Given the description of an element on the screen output the (x, y) to click on. 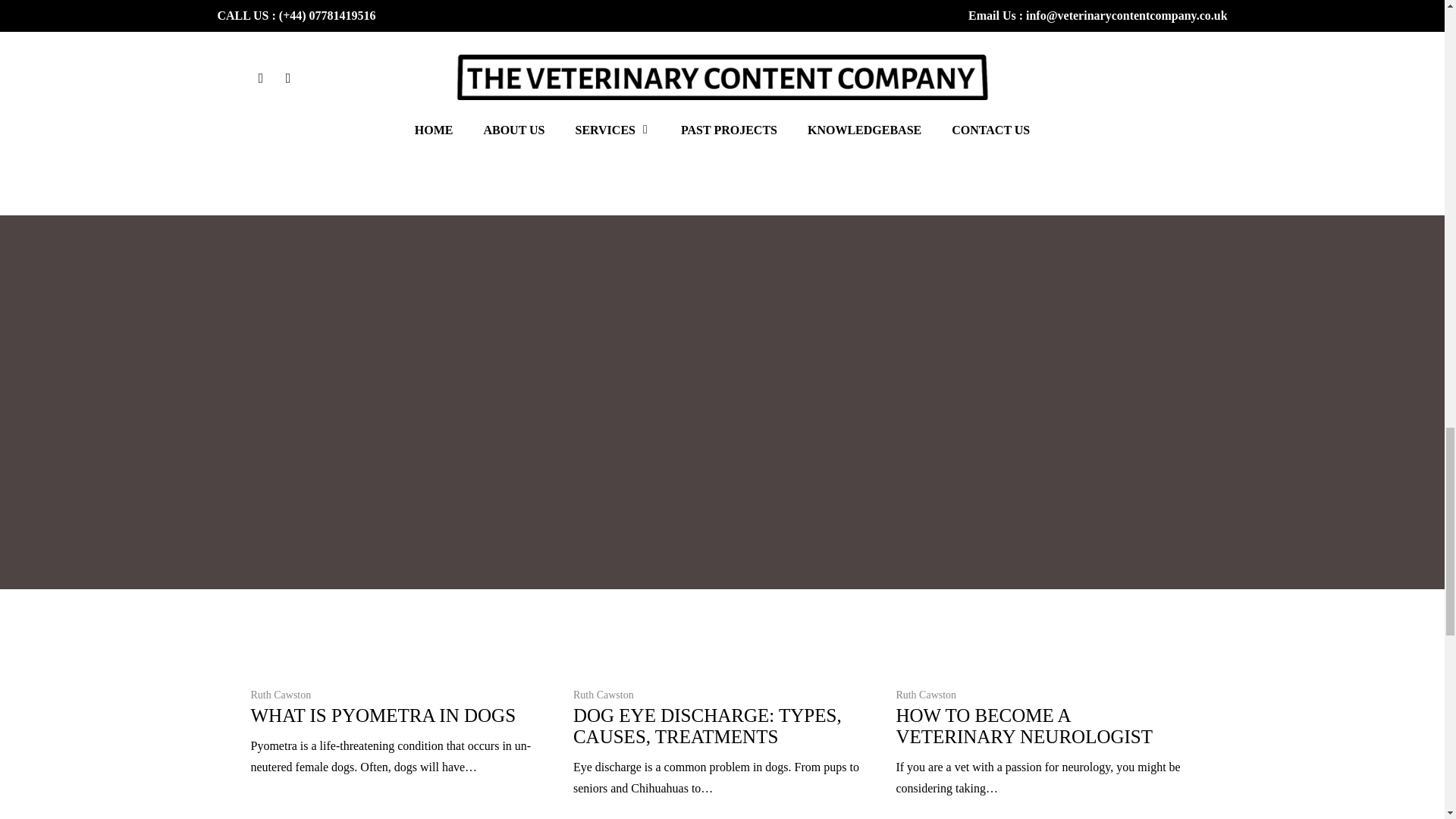
HOW TO BECOME A VETERINARY NEUROLOGIST (1024, 725)
Ruth Cawston (925, 695)
WHAT IS PYOMETRA IN DOGS (382, 715)
Ruth Cawston (603, 695)
Ruth Cawston (280, 695)
DOG EYE DISCHARGE: TYPES, CAUSES, TREATMENTS (707, 725)
